Given the description of an element on the screen output the (x, y) to click on. 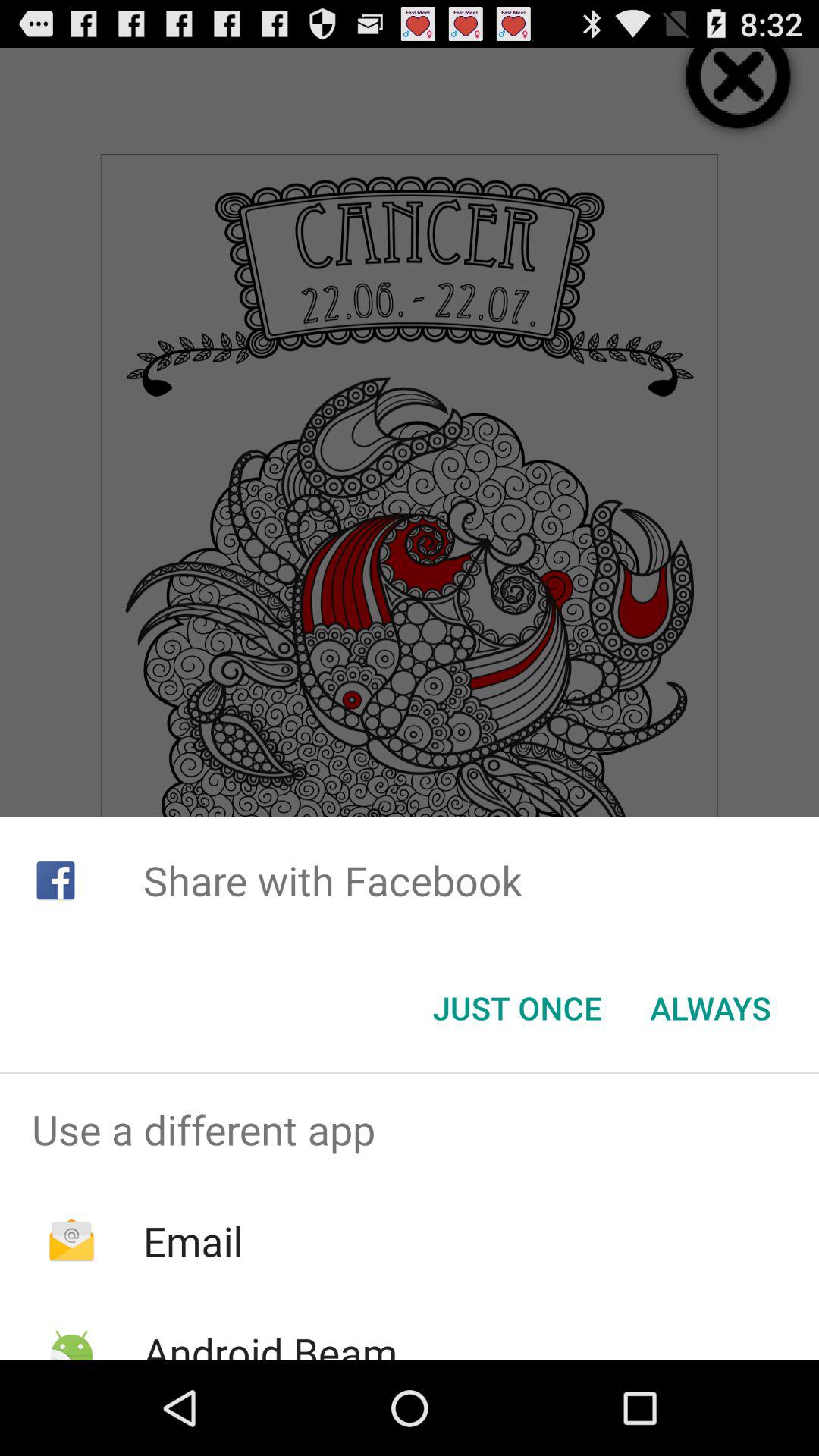
press the always at the bottom right corner (710, 1007)
